Given the description of an element on the screen output the (x, y) to click on. 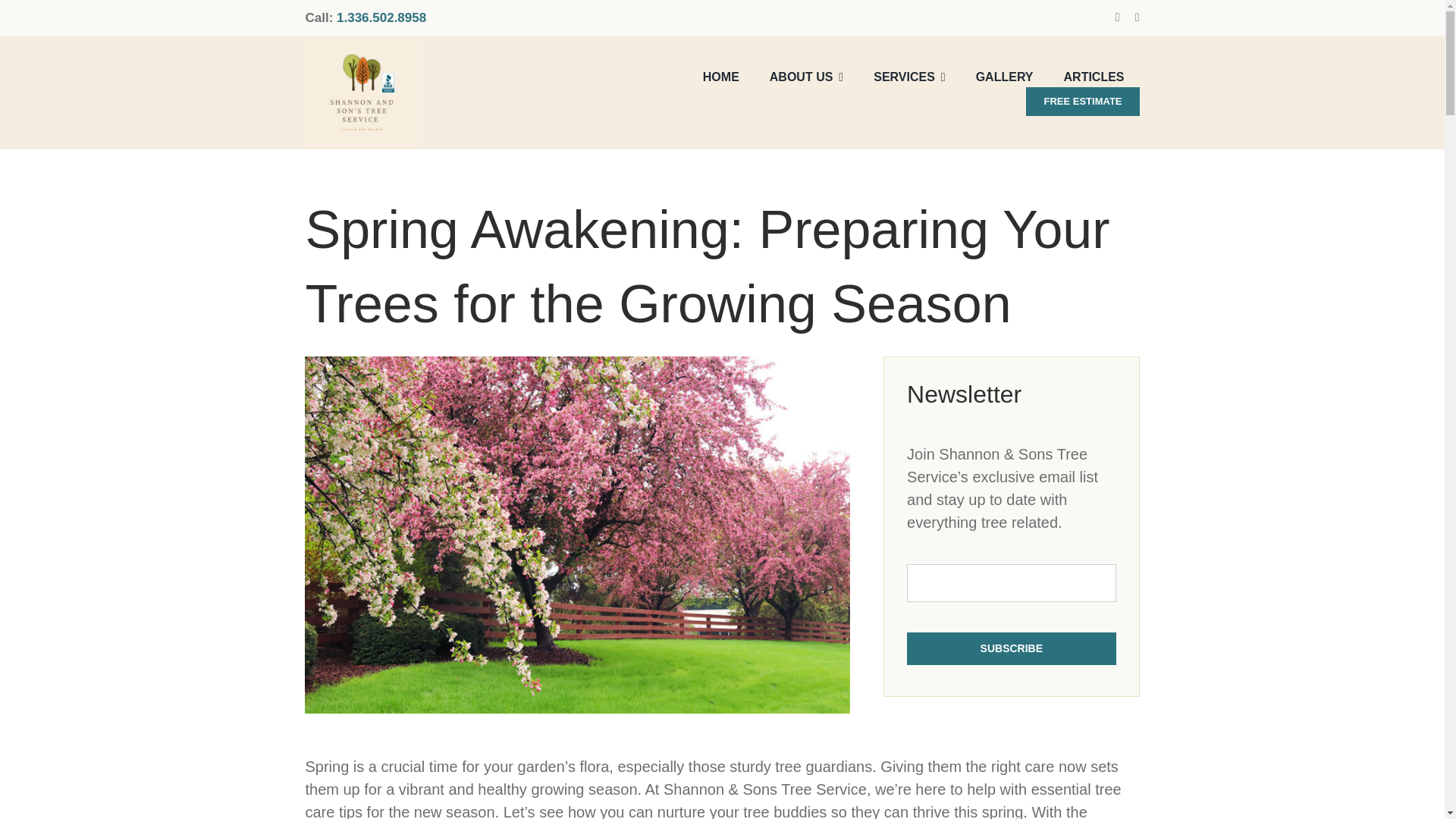
ARTICLES (1094, 76)
1.336.502.8958 (381, 17)
SERVICES (908, 76)
FREE ESTIMATE (1082, 101)
SUBSCRIBE (1011, 622)
GALLERY (1004, 76)
HOME (721, 76)
ABOUT US (806, 76)
SUBSCRIBE (1011, 648)
